Given the description of an element on the screen output the (x, y) to click on. 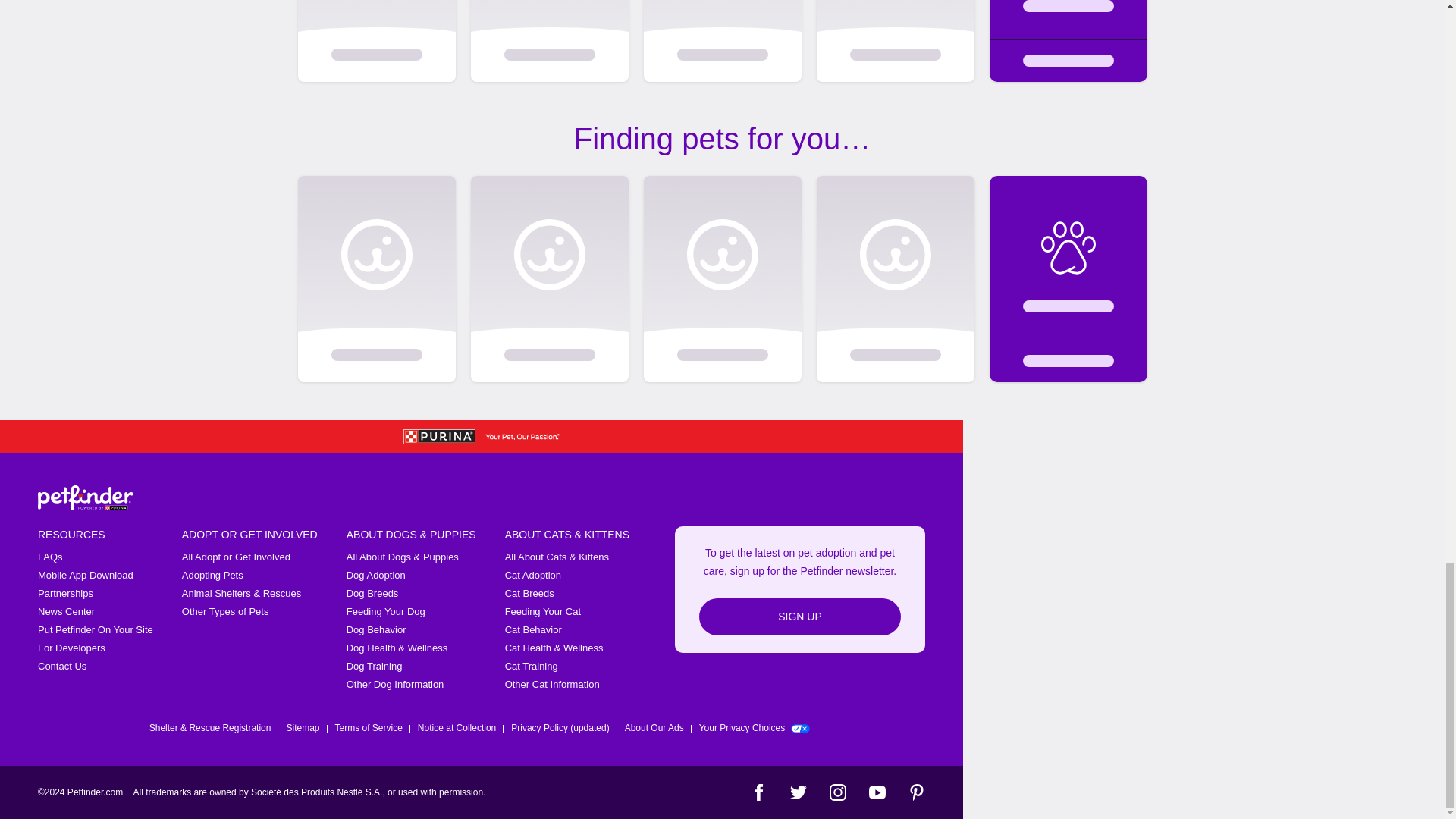
Petfinder Logo (85, 497)
Twitter (798, 791)
Instagram (837, 791)
Facebook (759, 791)
YouTube (877, 791)
